Given the description of an element on the screen output the (x, y) to click on. 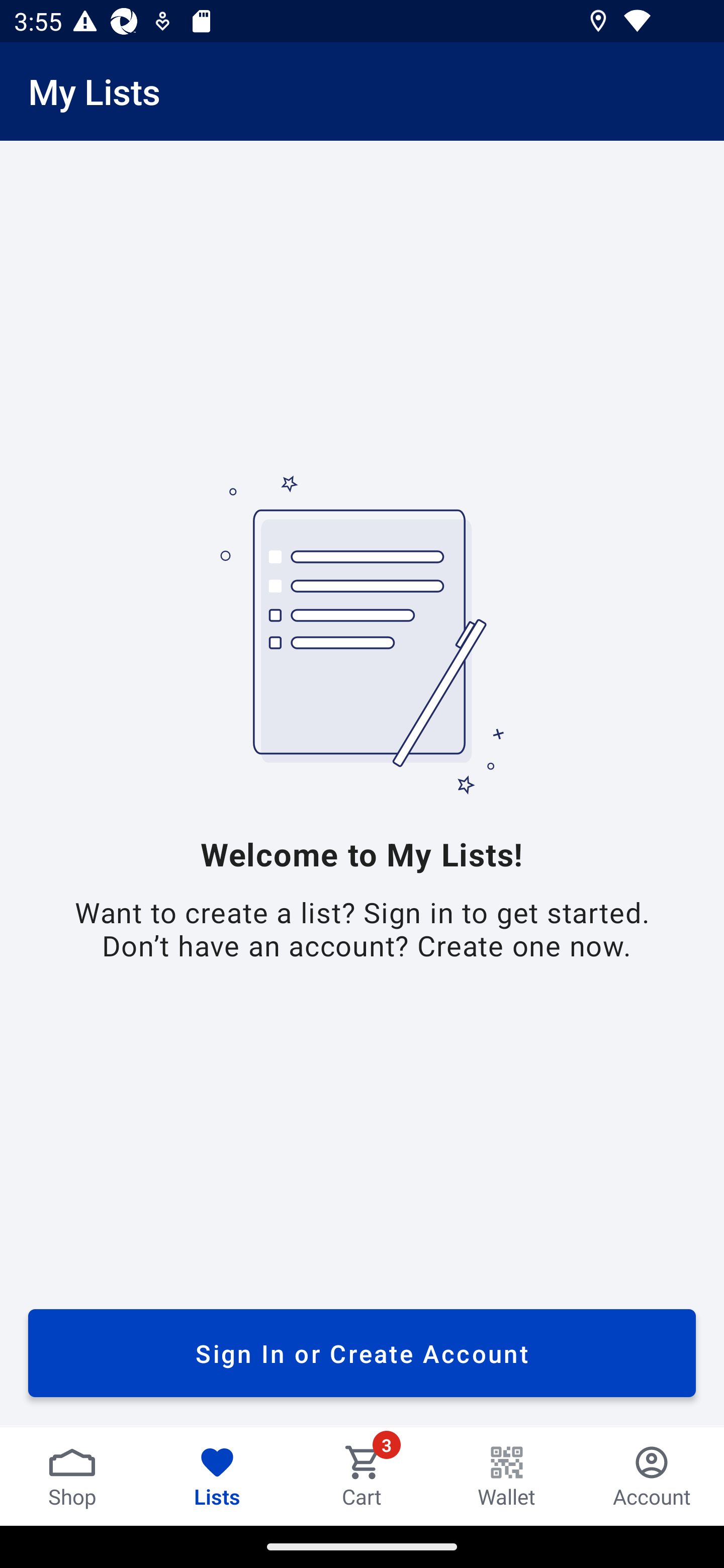
Sign In or Create Account (361, 1353)
Shop (72, 1475)
Cart Cart 3 (361, 1475)
Wallet (506, 1475)
Account (651, 1475)
